Given the description of an element on the screen output the (x, y) to click on. 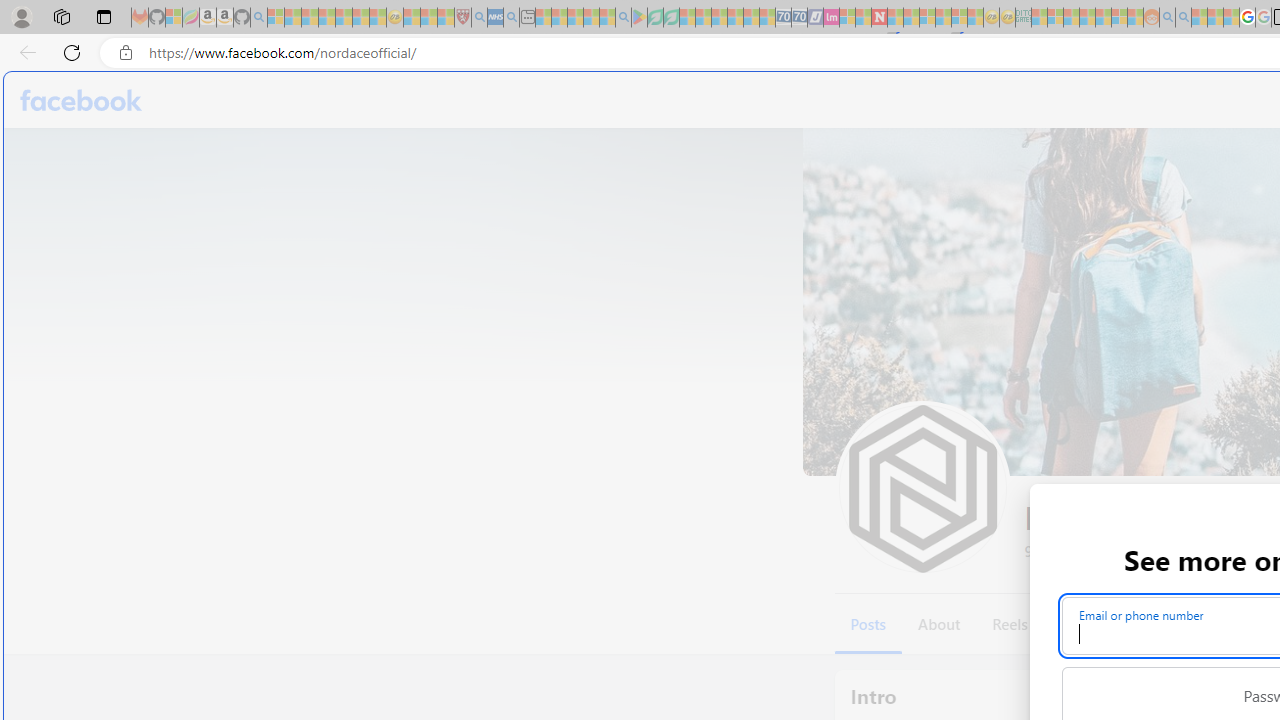
Pets - MSN - Sleeping (591, 17)
Cheap Hotels - Save70.com - Sleeping (799, 17)
